Given the description of an element on the screen output the (x, y) to click on. 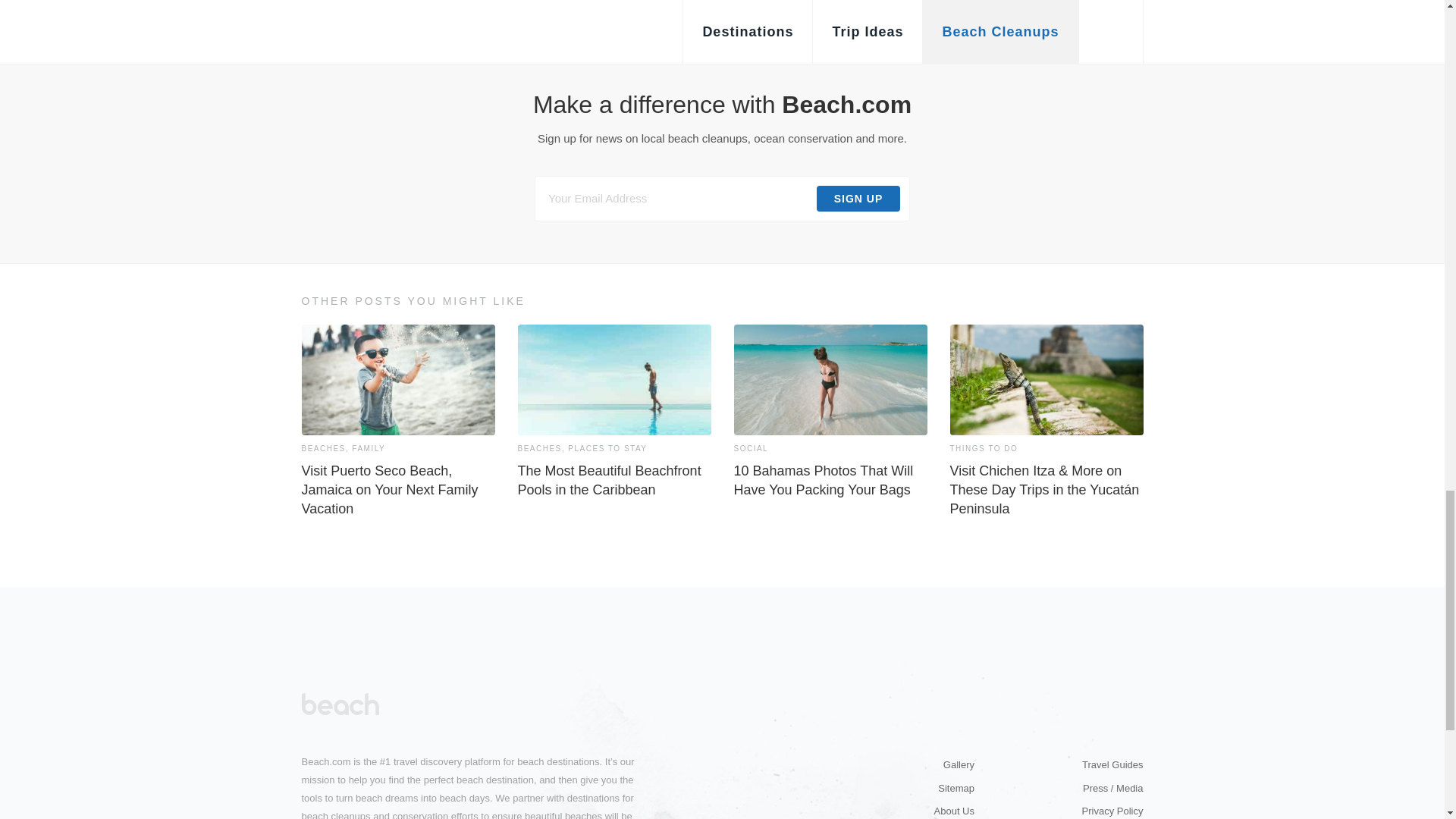
Sign Up (857, 198)
